Given the description of an element on the screen output the (x, y) to click on. 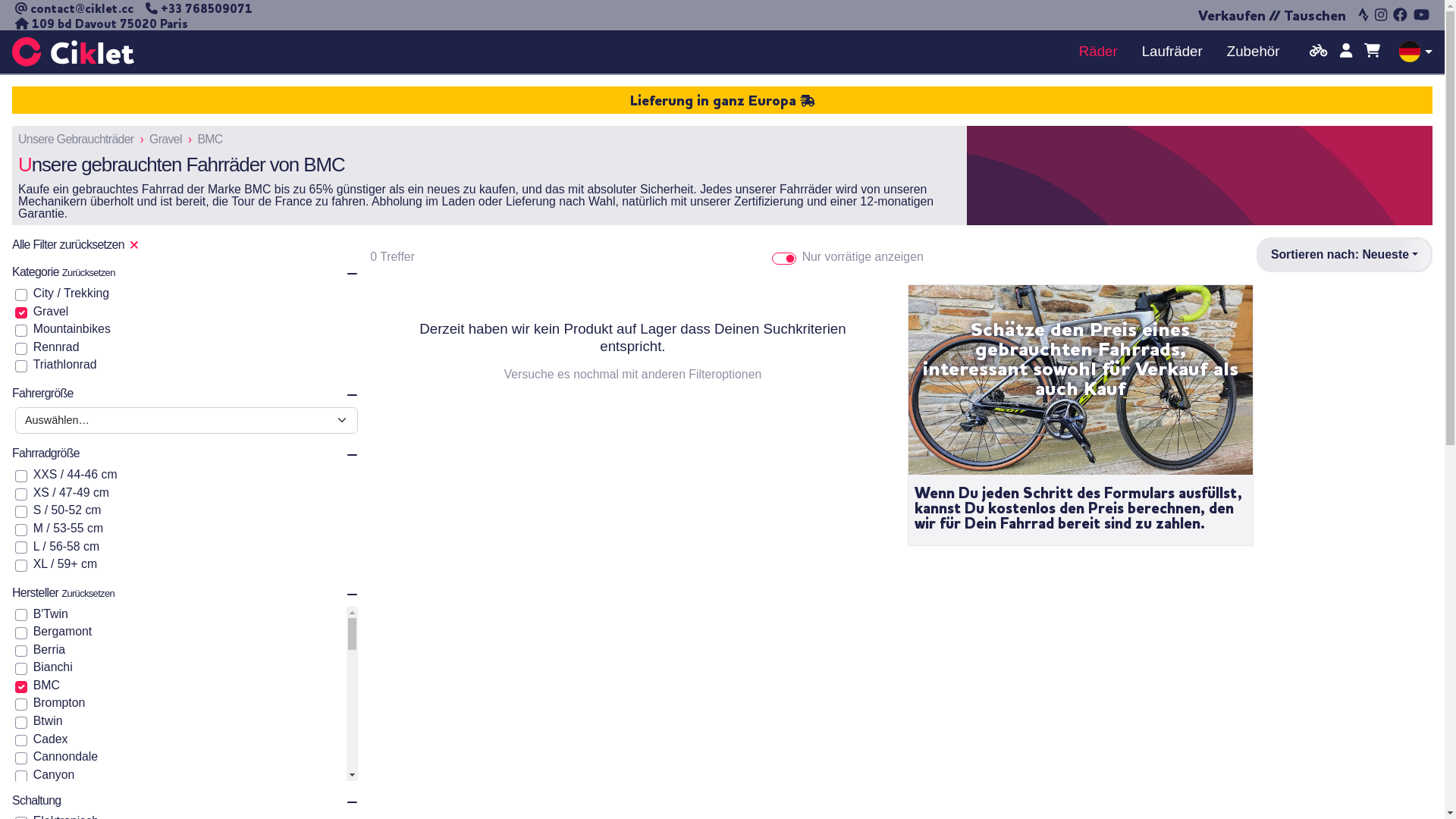
YouTube Element type: hover (1421, 16)
109 bd Davout 75020 Paris Element type: text (101, 24)
Instagram Element type: hover (1380, 16)
Verkaufen // Tauschen Element type: text (1275, 16)
Facebook Element type: hover (1399, 16)
Gravel Element type: text (165, 138)
contact@ciklet.cc Element type: text (74, 9)
Sortieren nach: Neueste Element type: text (1344, 254)
+33 768509071 Element type: text (192, 9)
Strava Element type: hover (1363, 16)
